Given the description of an element on the screen output the (x, y) to click on. 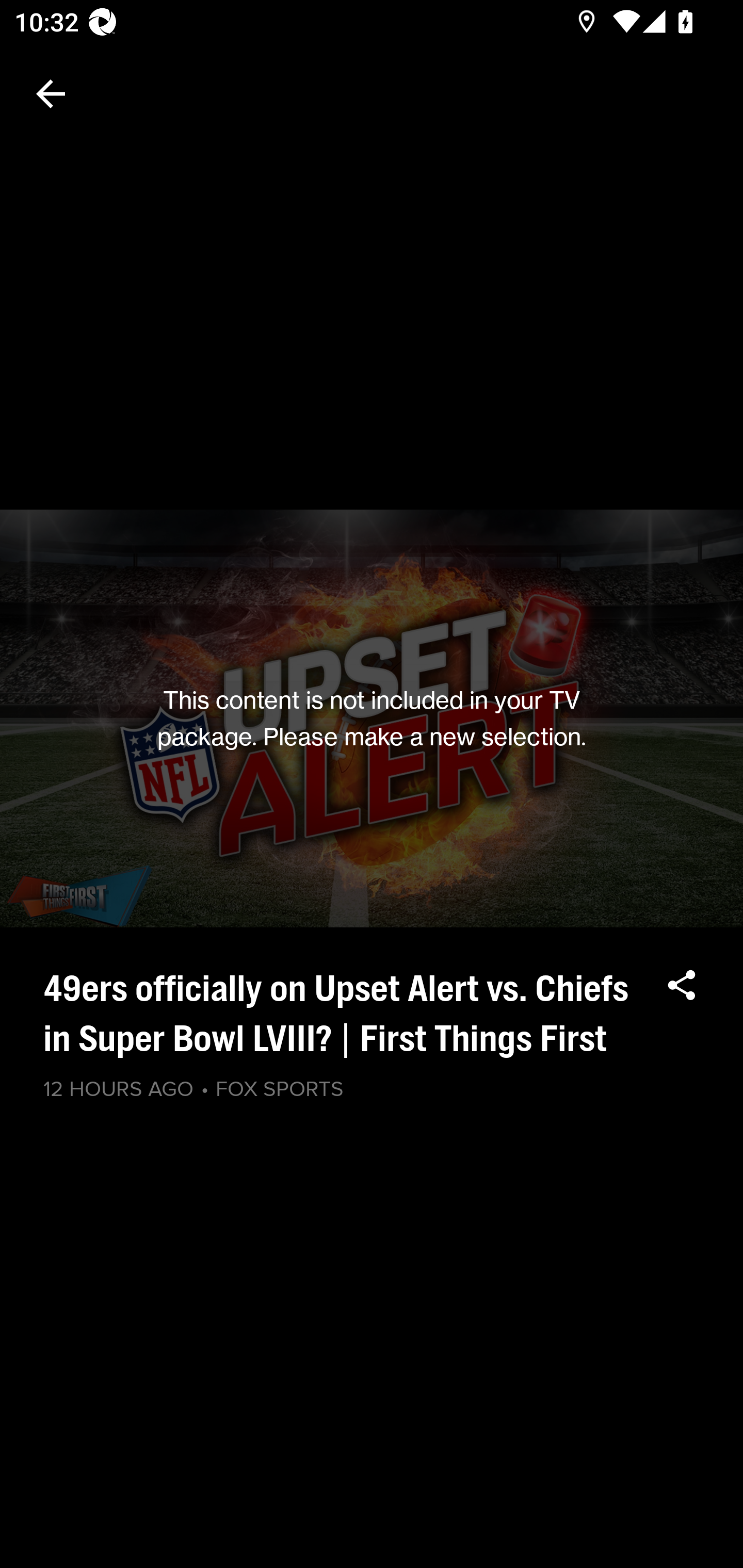
Navigate up (50, 93)
